Given the description of an element on the screen output the (x, y) to click on. 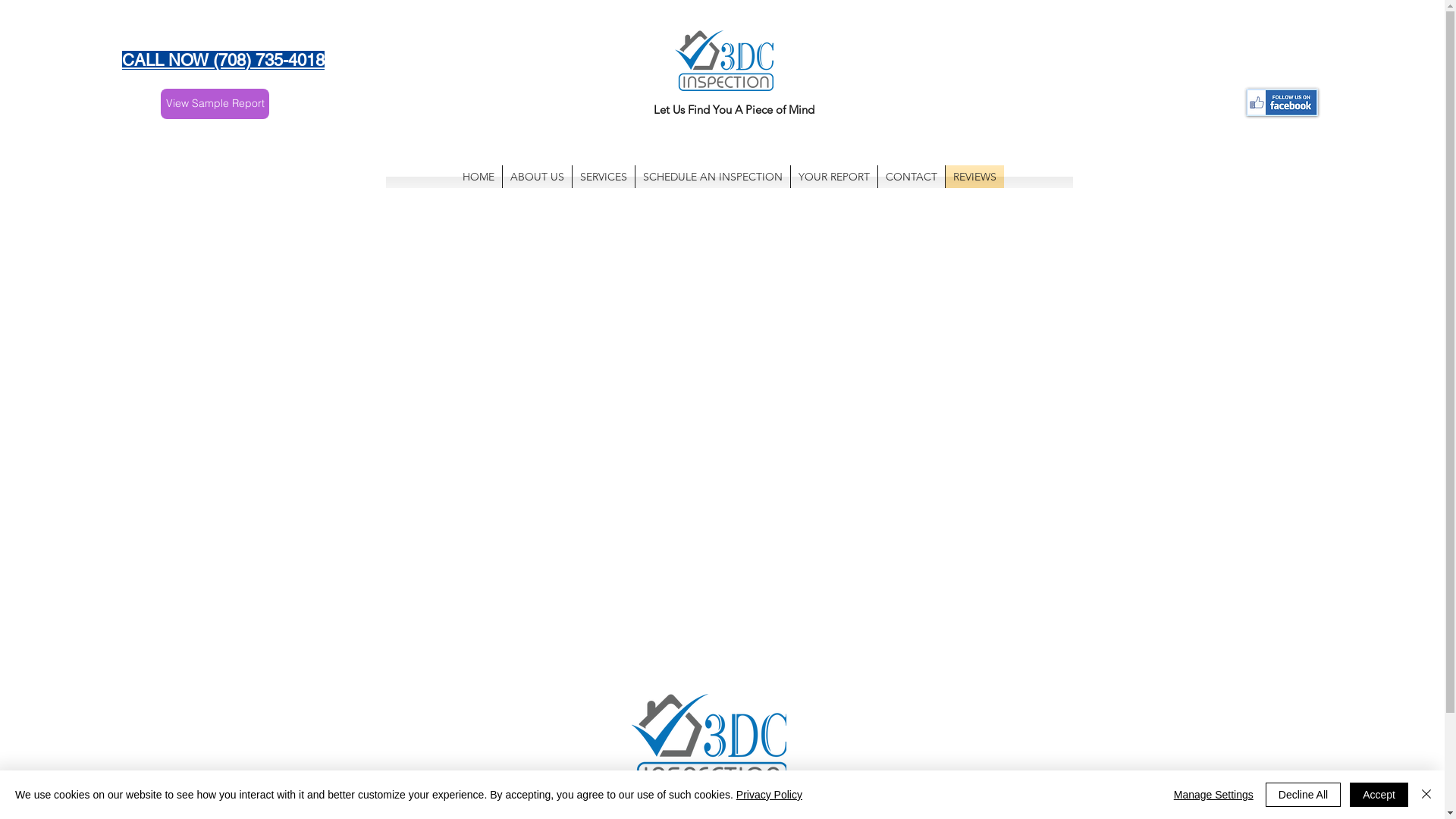
SERVICES Element type: text (603, 176)
REVIEWS Element type: text (974, 176)
View Sample Report Element type: text (214, 103)
Decline All Element type: text (1302, 794)
CONTACT Element type: text (911, 176)
Accept Element type: text (1378, 794)
CALL NOW (708) 735-4018 Element type: text (223, 59)
SCHEDULE AN INSPECTION Element type: text (712, 176)
HOME Element type: text (478, 176)
YOUR REPORT Element type: text (833, 176)
Privacy Policy Element type: text (769, 794)
ABOUT US Element type: text (536, 176)
